Given the description of an element on the screen output the (x, y) to click on. 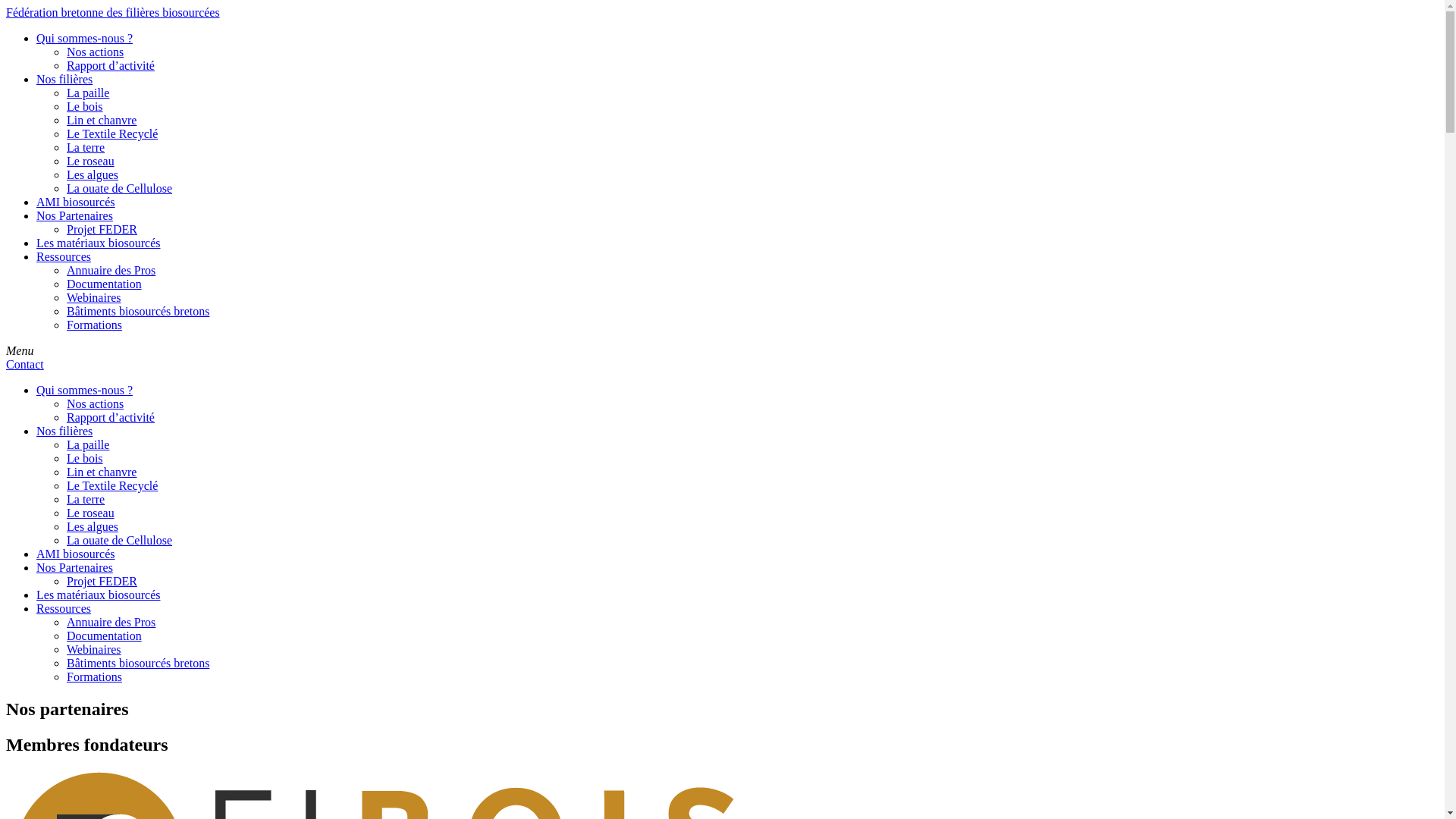
Webinaires Element type: text (93, 649)
Les algues Element type: text (92, 174)
Formations Element type: text (94, 324)
Lin et chanvre Element type: text (101, 119)
Les algues Element type: text (92, 526)
Qui sommes-nous ? Element type: text (84, 37)
Nos actions Element type: text (94, 51)
La ouate de Cellulose Element type: text (119, 539)
Annuaire des Pros Element type: text (110, 269)
Lin et chanvre Element type: text (101, 471)
La paille Element type: text (87, 92)
Formations Element type: text (94, 676)
Nos Partenaires Element type: text (74, 215)
Contact Element type: text (24, 363)
La ouate de Cellulose Element type: text (119, 188)
Le bois Element type: text (84, 457)
Le roseau Element type: text (90, 160)
Documentation Element type: text (103, 283)
Webinaires Element type: text (93, 297)
Le roseau Element type: text (90, 512)
La terre Element type: text (85, 498)
Annuaire des Pros Element type: text (110, 621)
Nos actions Element type: text (94, 403)
Ressources Element type: text (63, 256)
Nos Partenaires Element type: text (74, 567)
La paille Element type: text (87, 444)
La terre Element type: text (85, 147)
Projet FEDER Element type: text (101, 580)
Ressources Element type: text (63, 608)
Projet FEDER Element type: text (101, 228)
Le bois Element type: text (84, 106)
Qui sommes-nous ? Element type: text (84, 389)
Documentation Element type: text (103, 635)
